Given the description of an element on the screen output the (x, y) to click on. 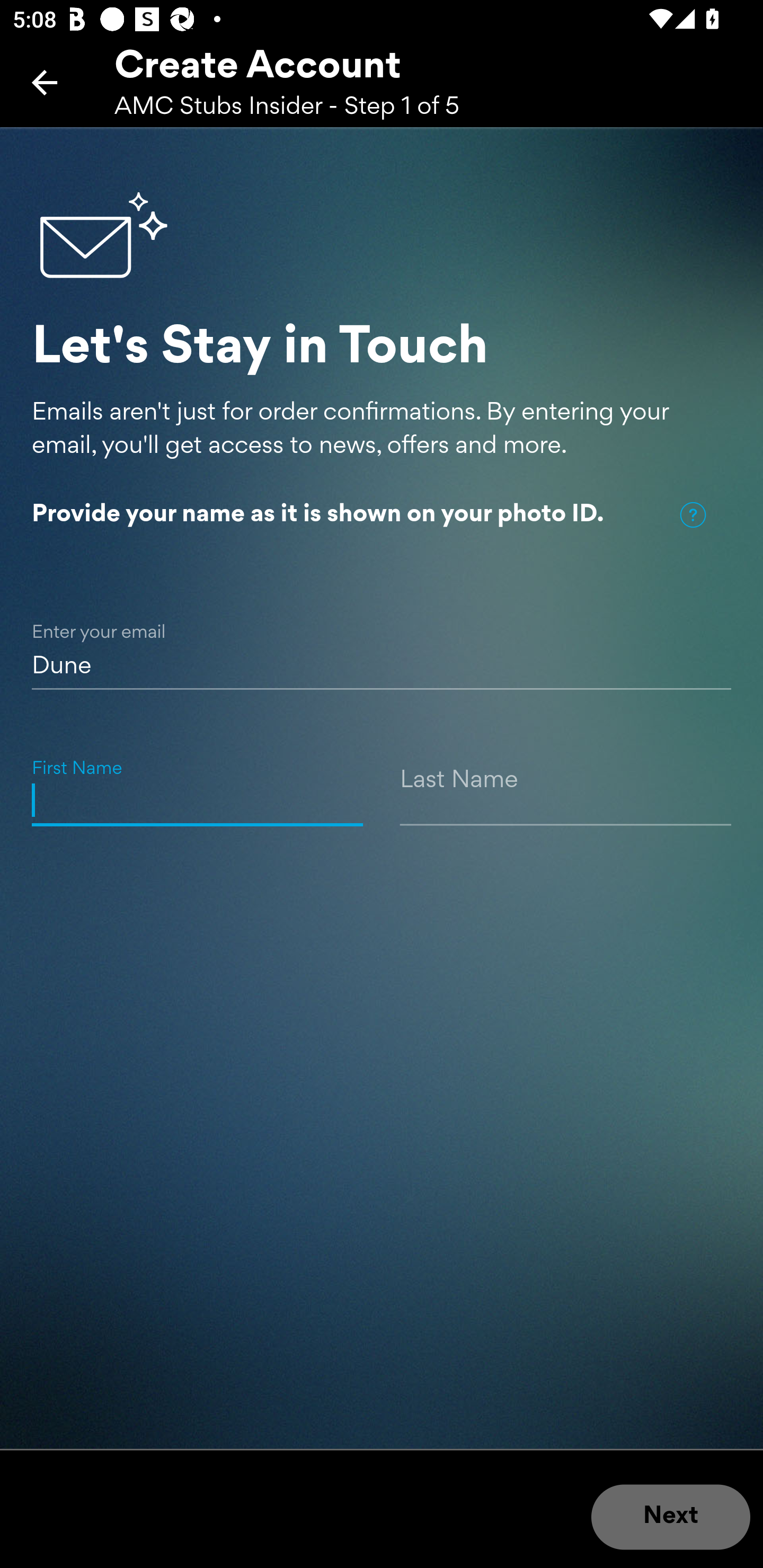
Back (44, 82)
Help (692, 514)
Dune (381, 644)
